Given the description of an element on the screen output the (x, y) to click on. 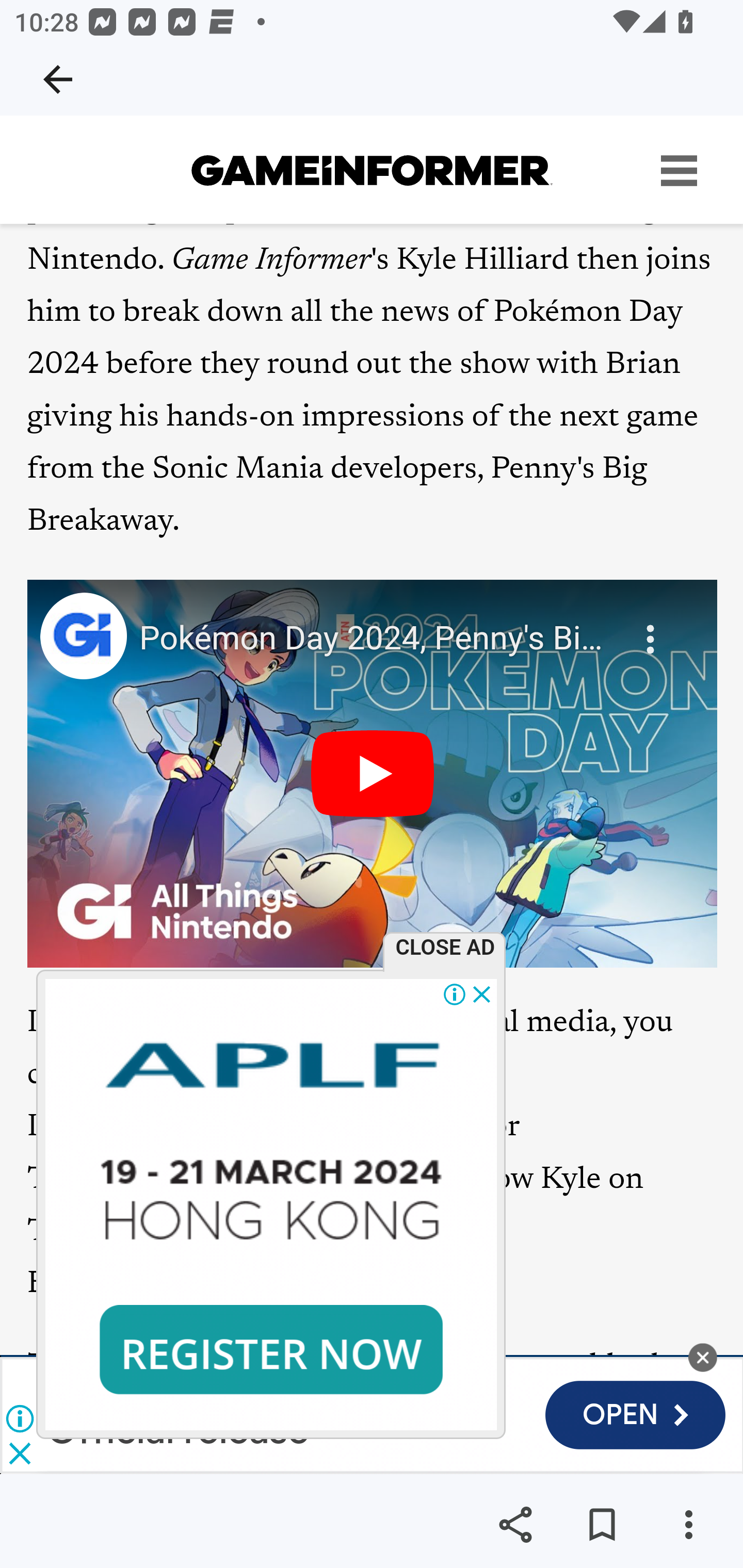
Navigate up (57, 79)
www.gameinformer (371, 171)
More (651, 627)
Photo image of Game Informer Shows (82, 637)
Play (372, 775)
CLOSE AD (449, 946)
Share (514, 1524)
Save for later (601, 1524)
More options (688, 1524)
